Given the description of an element on the screen output the (x, y) to click on. 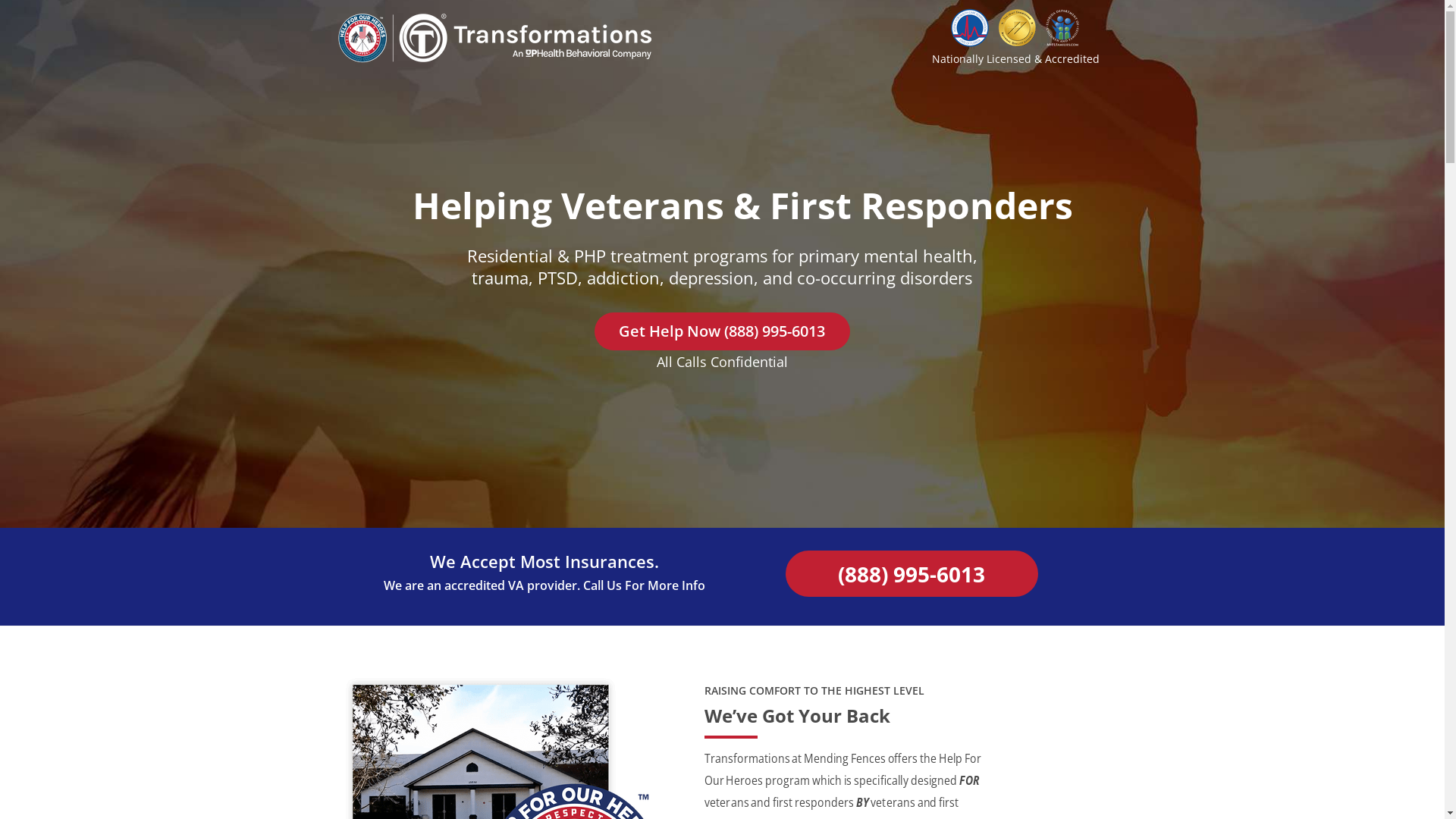
Get Help Now (888) 995-6013 Element type: text (722, 331)
(888) 995-6013 Element type: text (911, 573)
